Given the description of an element on the screen output the (x, y) to click on. 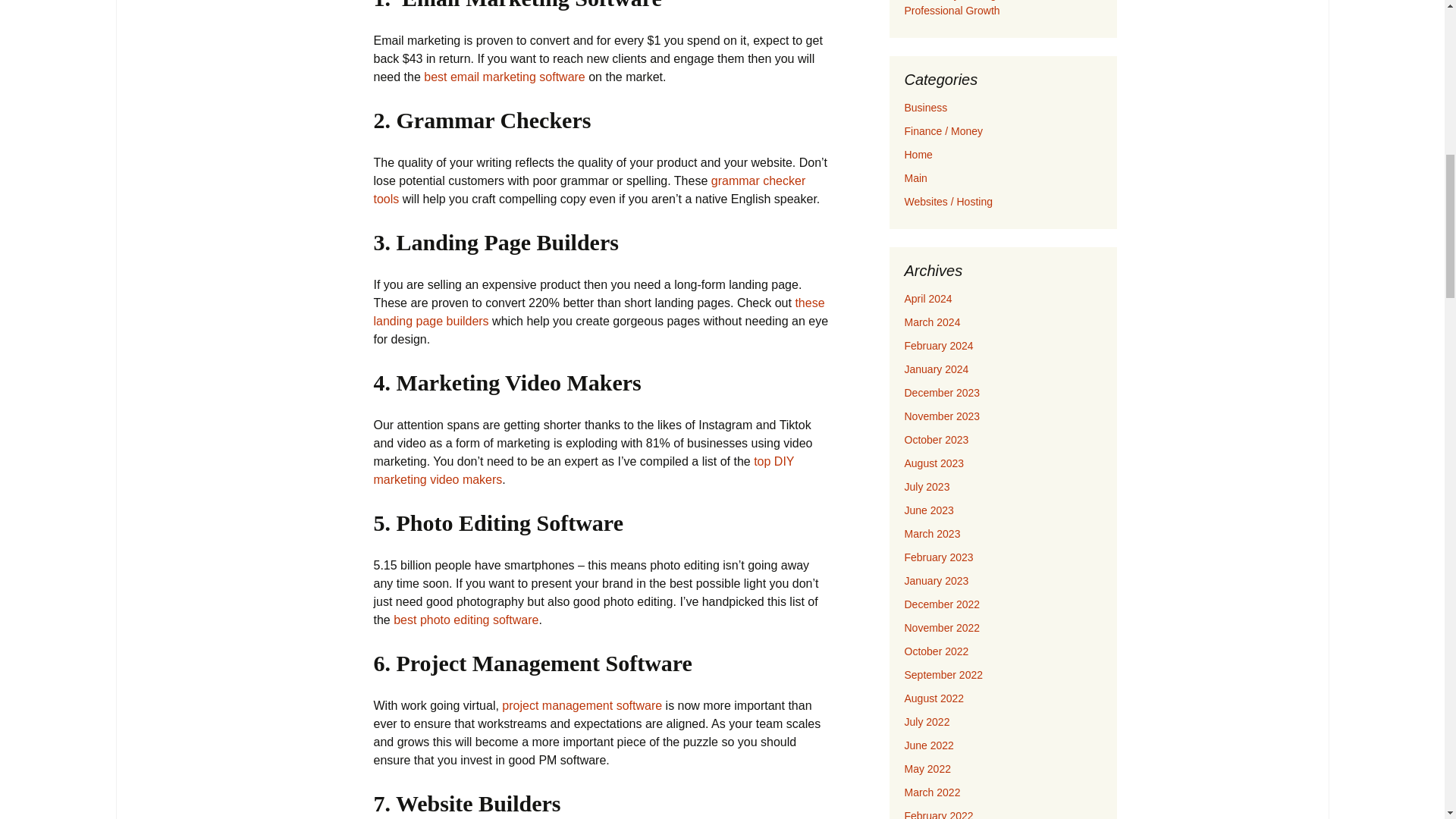
Home (917, 154)
best email marketing software (504, 76)
top DIY marketing video makers (582, 470)
best photo editing software (465, 619)
these landing page builders (598, 311)
grammar checker tools (588, 189)
Business (925, 107)
April 2024 (928, 298)
project management software (582, 705)
March 2024 (931, 322)
